Given the description of an element on the screen output the (x, y) to click on. 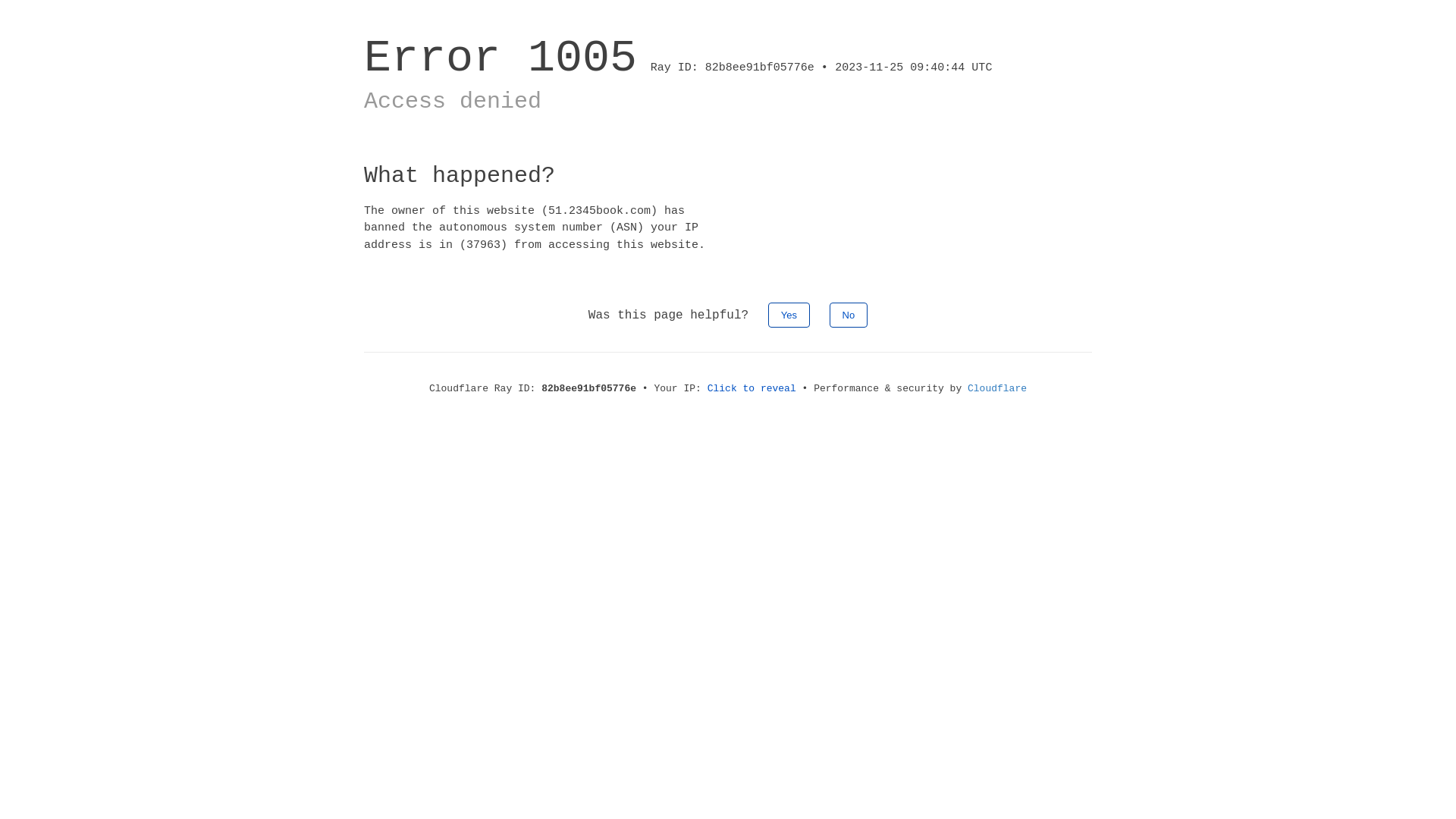
Click to reveal Element type: text (751, 388)
Cloudflare Element type: text (996, 388)
Yes Element type: text (788, 314)
No Element type: text (848, 314)
